Given the description of an element on the screen output the (x, y) to click on. 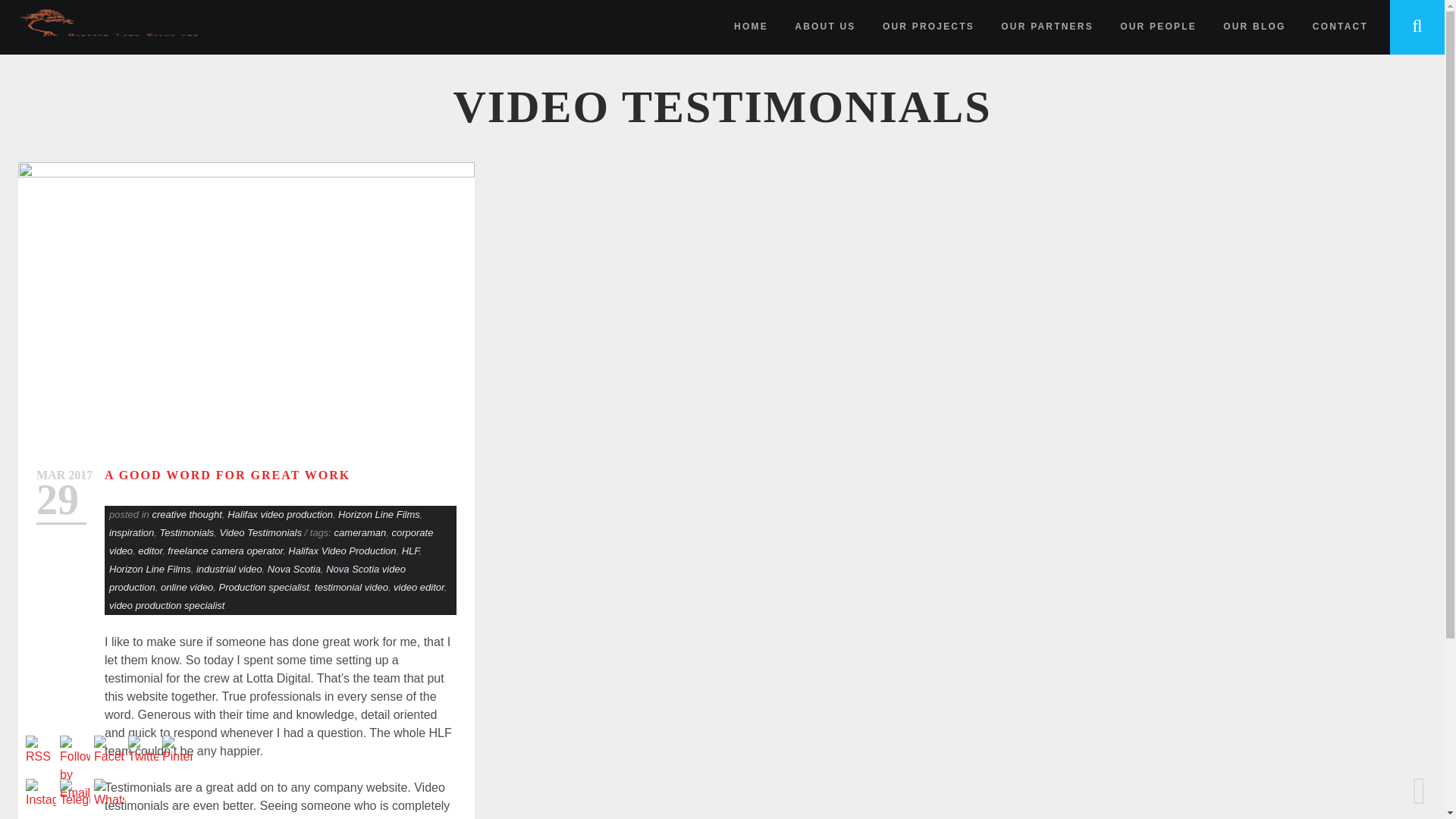
RSS (41, 750)
cameraman (360, 532)
Pinterest (176, 750)
freelance camera operator (224, 550)
online video (186, 586)
Halifax Video Production (342, 550)
Telegram (74, 793)
Halifax video production (280, 514)
Horizon Line Films (149, 568)
OUR PEOPLE (1158, 26)
testimonial video (351, 586)
Testimonials (186, 532)
Nova Scotia video production (257, 577)
video production specialist (166, 604)
Production specialist (263, 586)
